Given the description of an element on the screen output the (x, y) to click on. 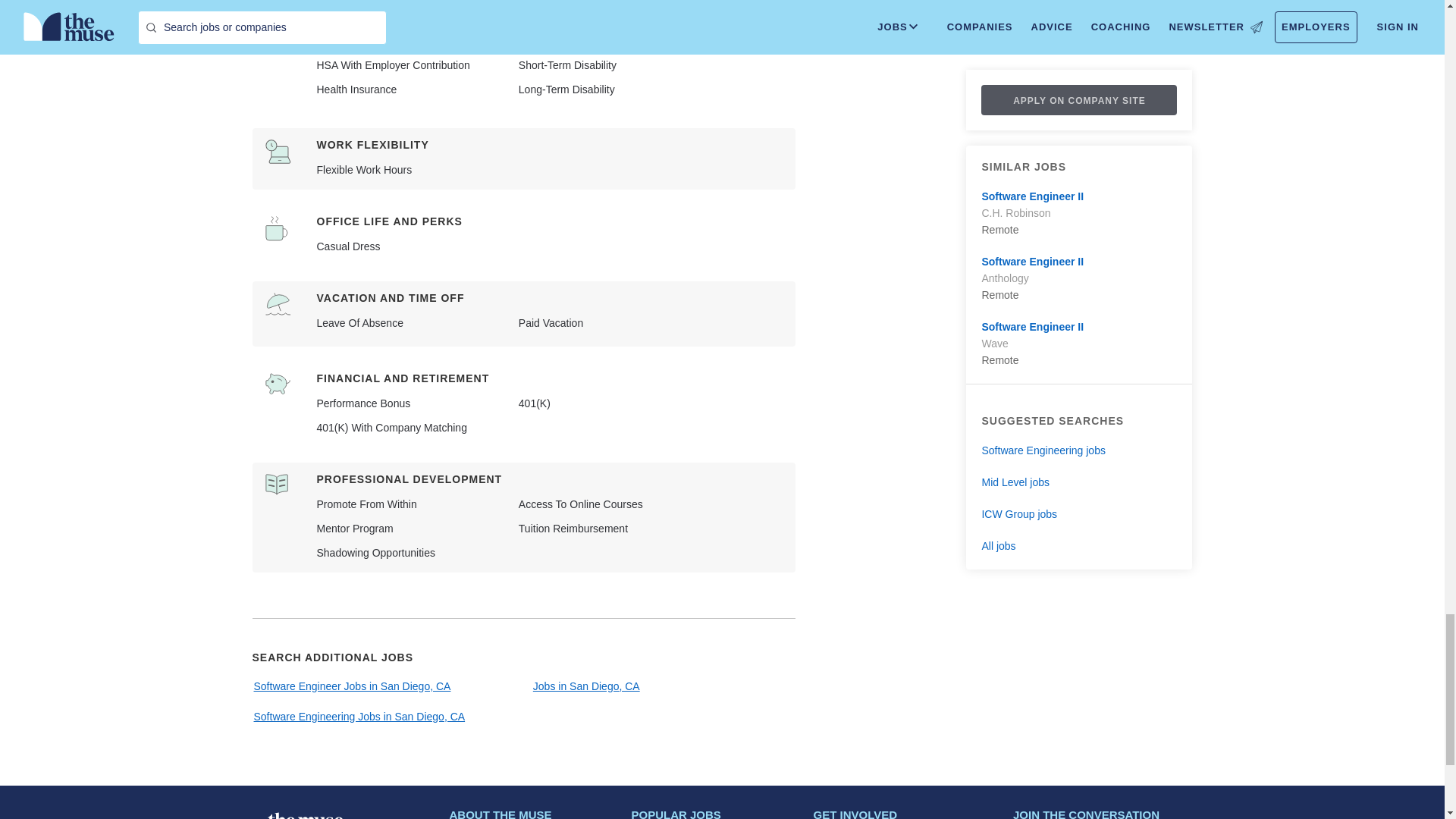
The Muse LogoA logo with "the muse" in white text. (304, 813)
